Given the description of an element on the screen output the (x, y) to click on. 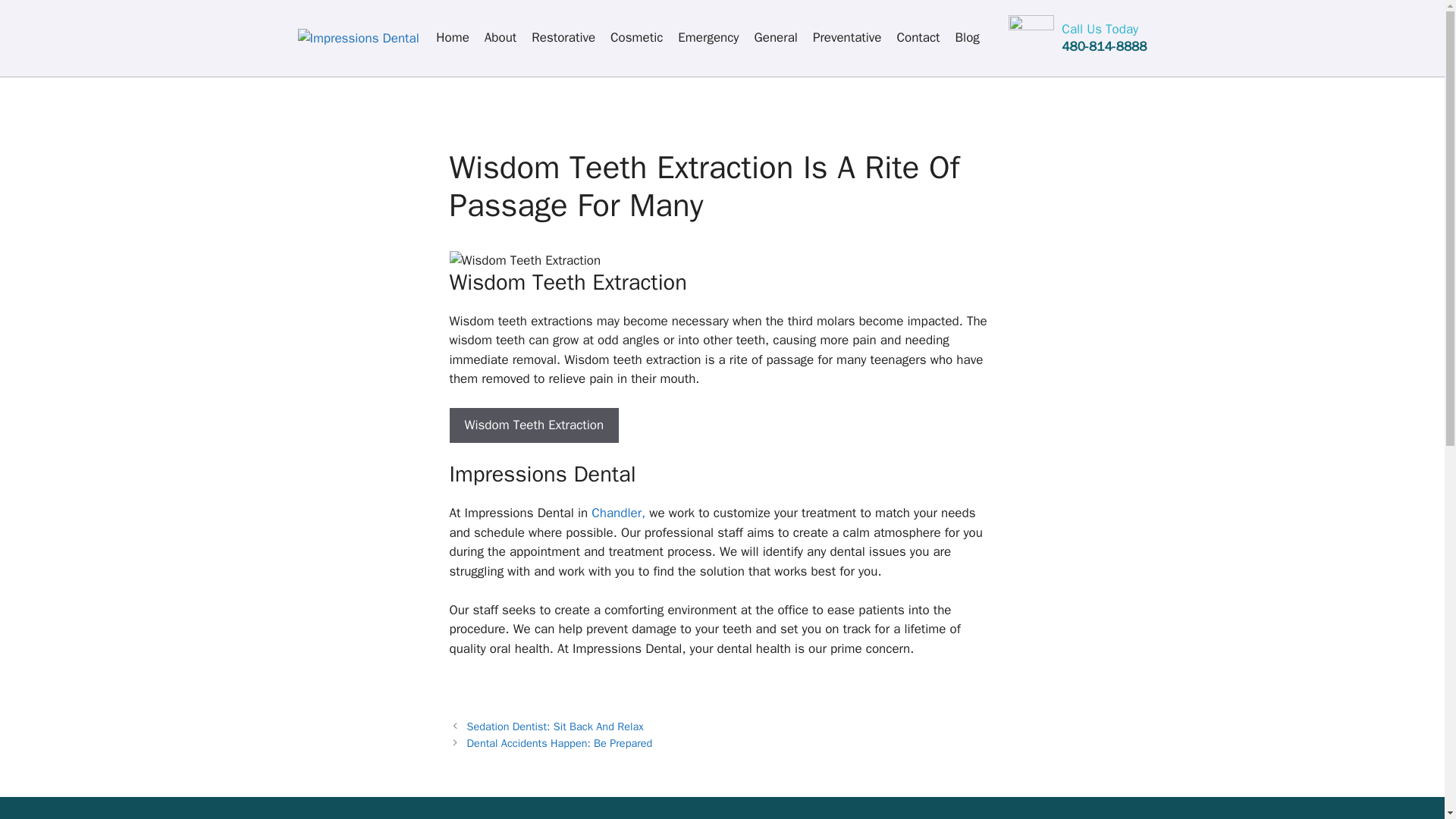
Home (452, 37)
phone-icon-1 (1031, 38)
Restorative (563, 37)
About (500, 37)
Wisdom Teeth Extraction (533, 425)
Submit (643, 290)
